Given the description of an element on the screen output the (x, y) to click on. 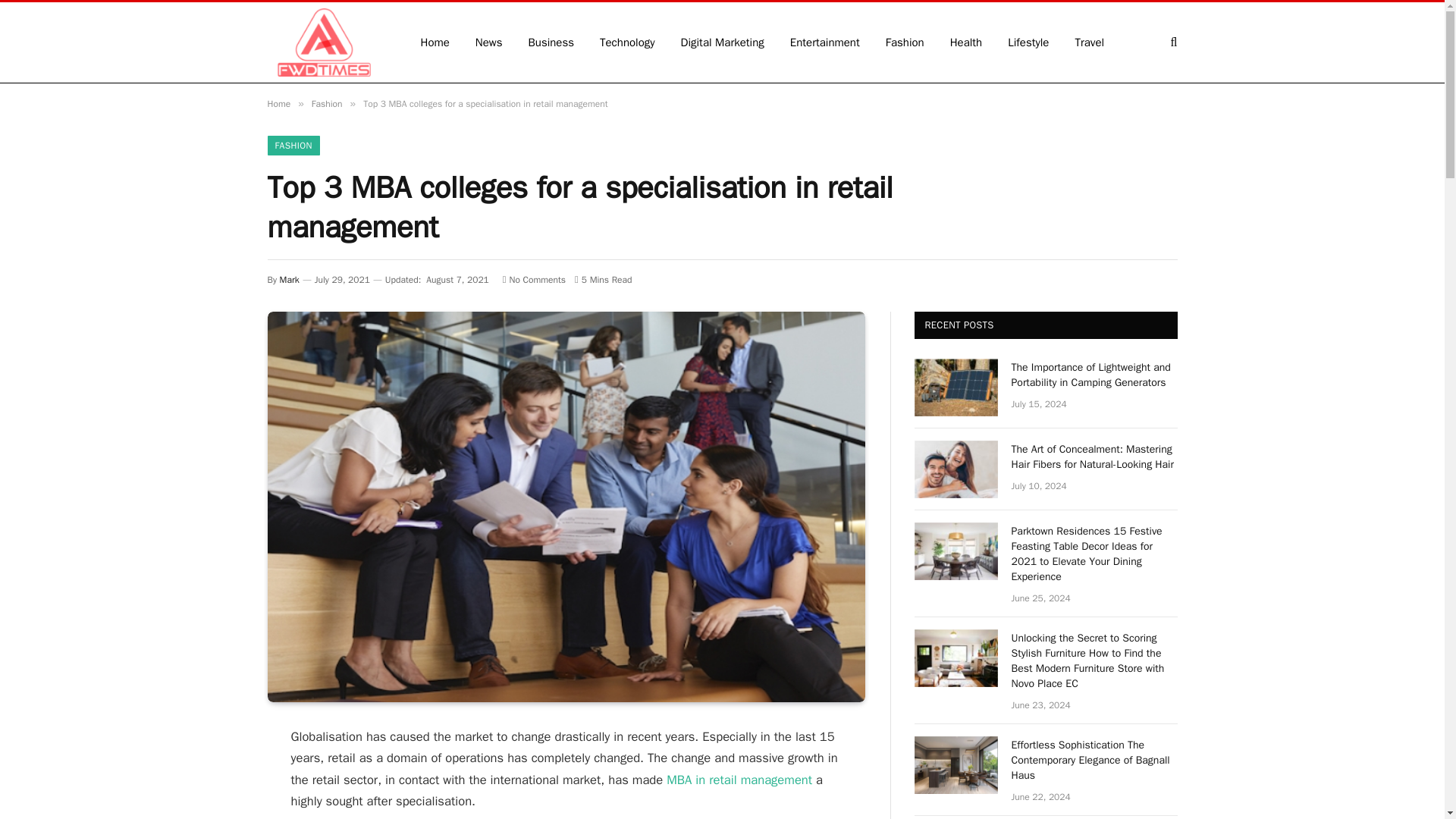
Technology (627, 42)
Business (551, 42)
Home (277, 103)
No Comments (534, 279)
Digital Marketing (722, 42)
Entertainment (824, 42)
Fashion (326, 103)
Fwdtimes (323, 42)
MBA in retail management (739, 779)
FASHION (292, 145)
